Given the description of an element on the screen output the (x, y) to click on. 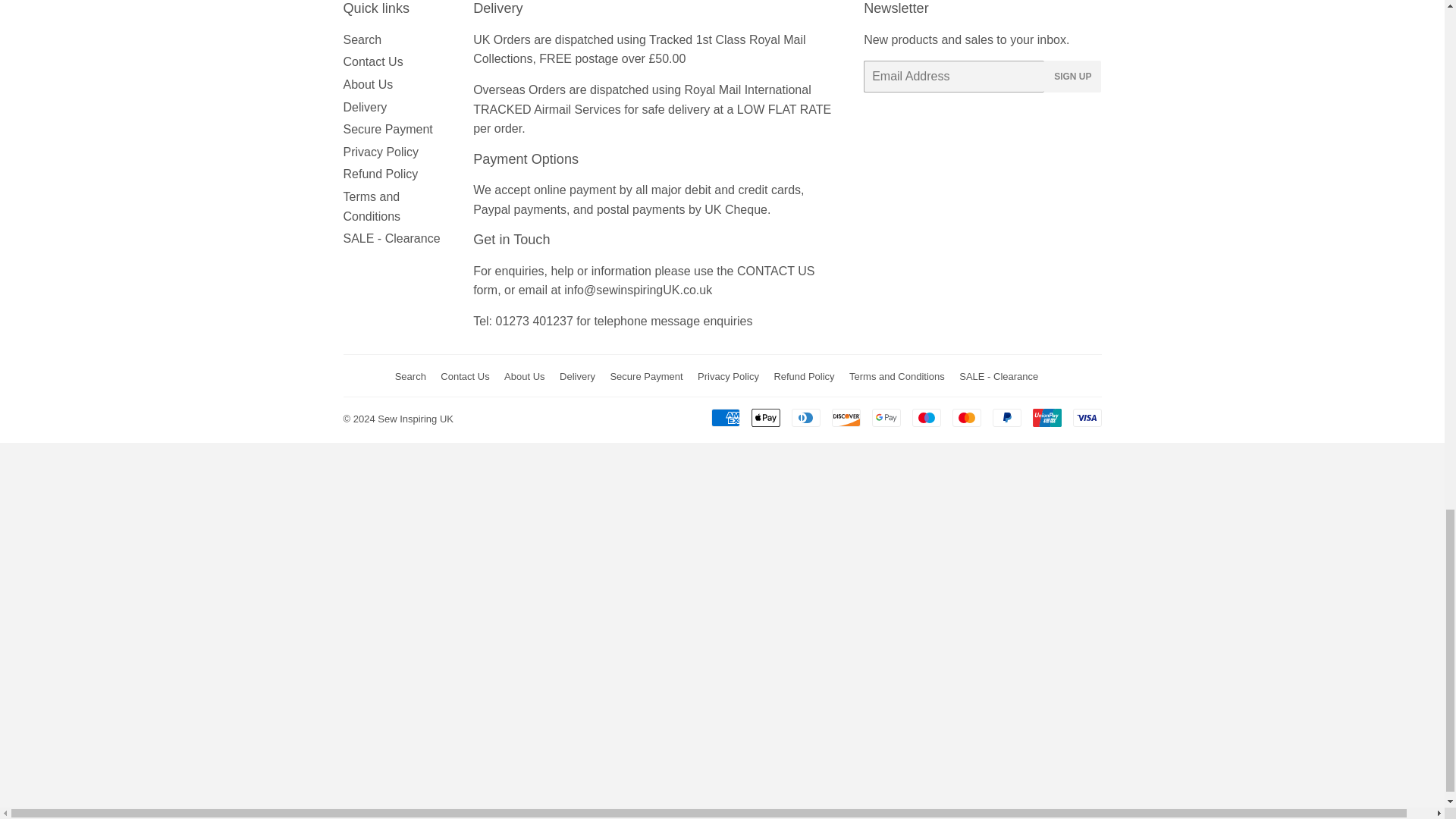
Apple Pay (764, 417)
Visa (1085, 417)
PayPal (1005, 417)
Discover (845, 417)
Union Pay (1046, 417)
Diners Club (806, 417)
Maestro (925, 417)
Google Pay (886, 417)
American Express (725, 417)
Mastercard (966, 417)
